Given the description of an element on the screen output the (x, y) to click on. 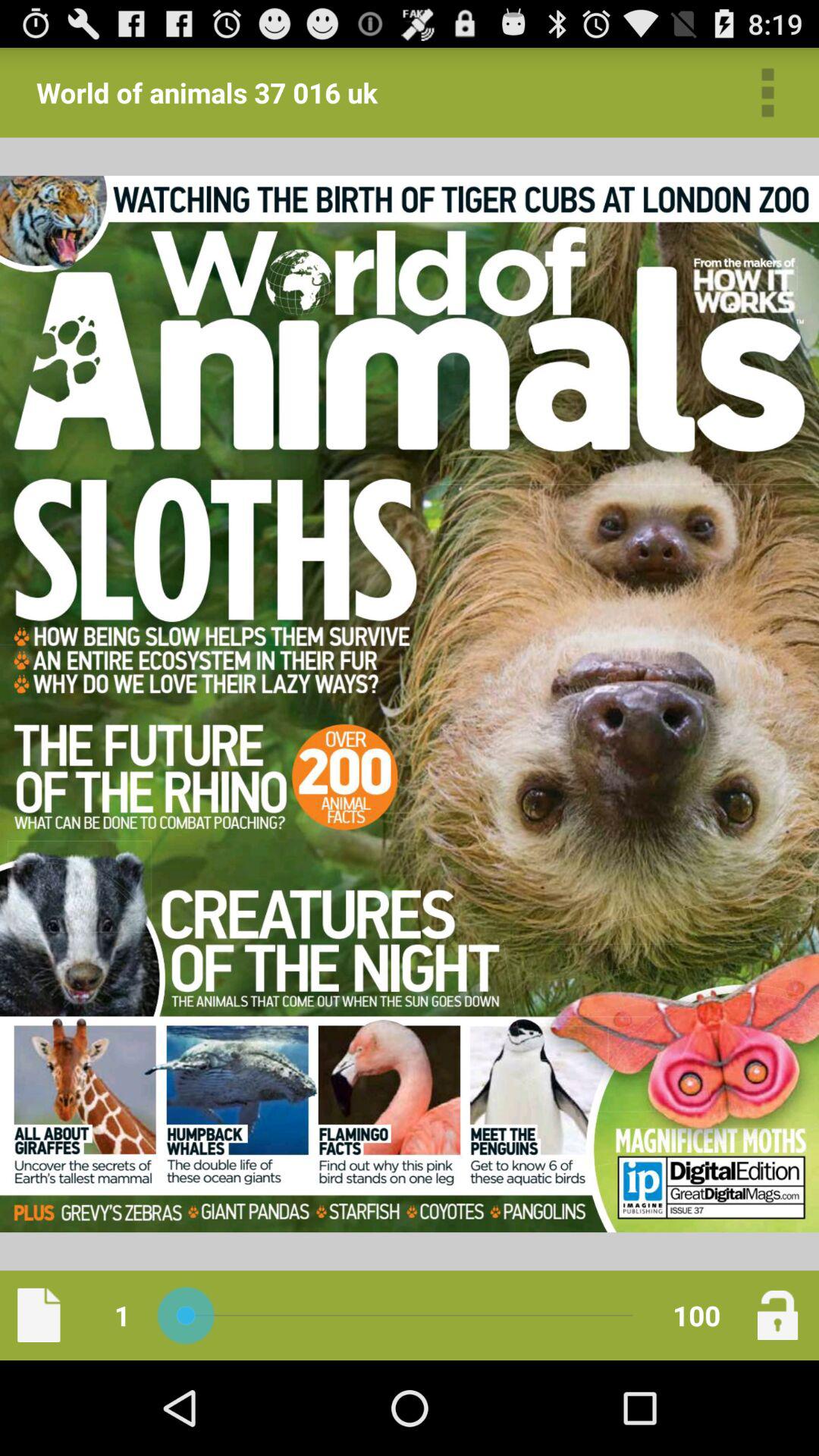
choose app to the right of the world of animals app (767, 92)
